Given the description of an element on the screen output the (x, y) to click on. 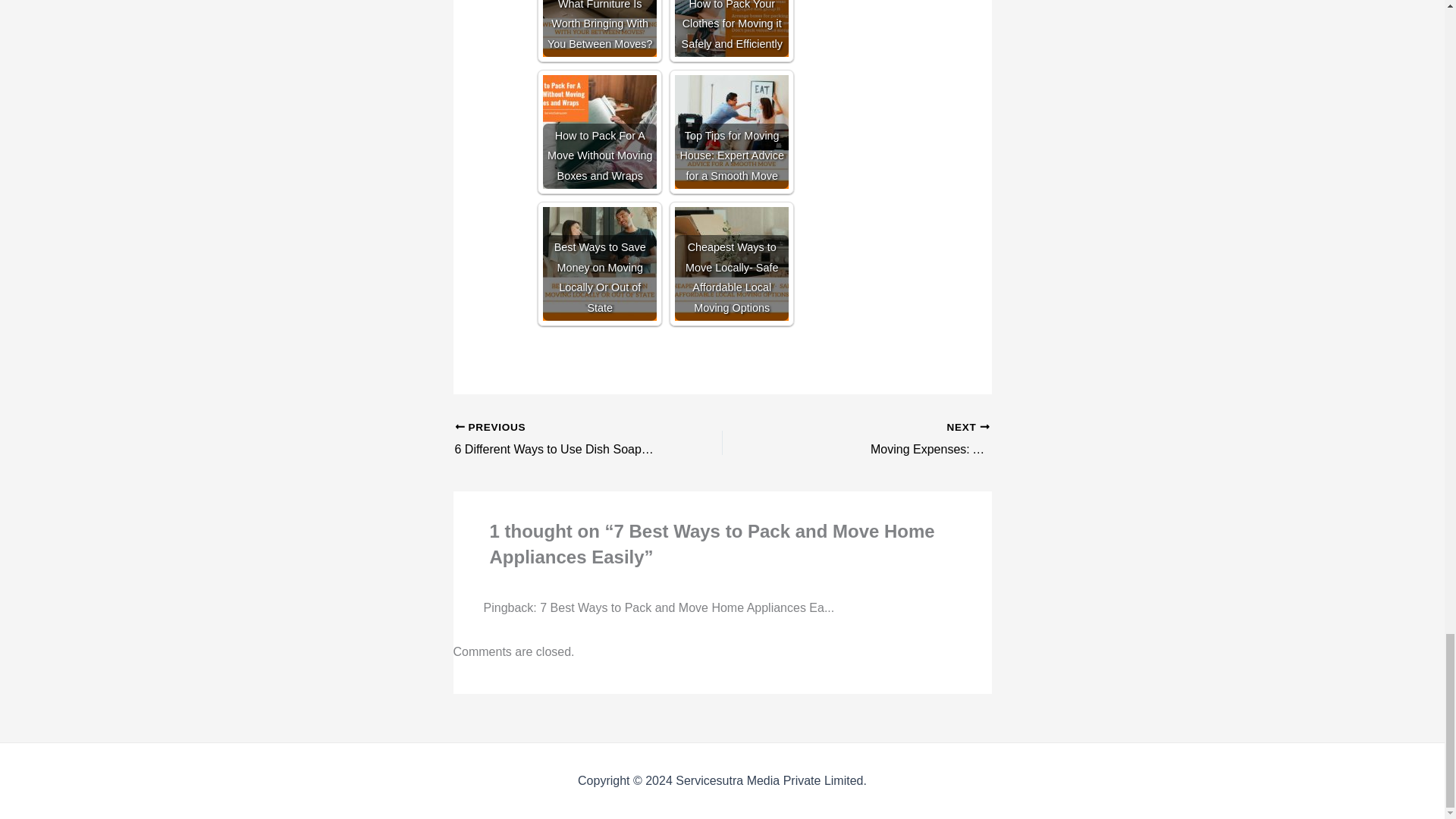
Top Tips for Moving House: Expert Advice for a Smooth Move (732, 132)
6 Different Ways to Use Dish Soap at Home (561, 439)
Best Ways to Save Money on Moving Locally Or Out of State (599, 264)
How to Pack For A Move Without Moving Boxes and Wraps (599, 132)
What Furniture Is Worth Bringing With You Between Moves? (599, 28)
How to Pack For A Move Without Moving Boxes and Wraps (599, 132)
What Furniture Is Worth Bringing With You Between Moves? (561, 439)
Top Tips for Moving House: Expert Advice for a Smooth Move (599, 28)
Best Ways to Save Money on Moving Locally Or Out of State (732, 132)
